Given the description of an element on the screen output the (x, y) to click on. 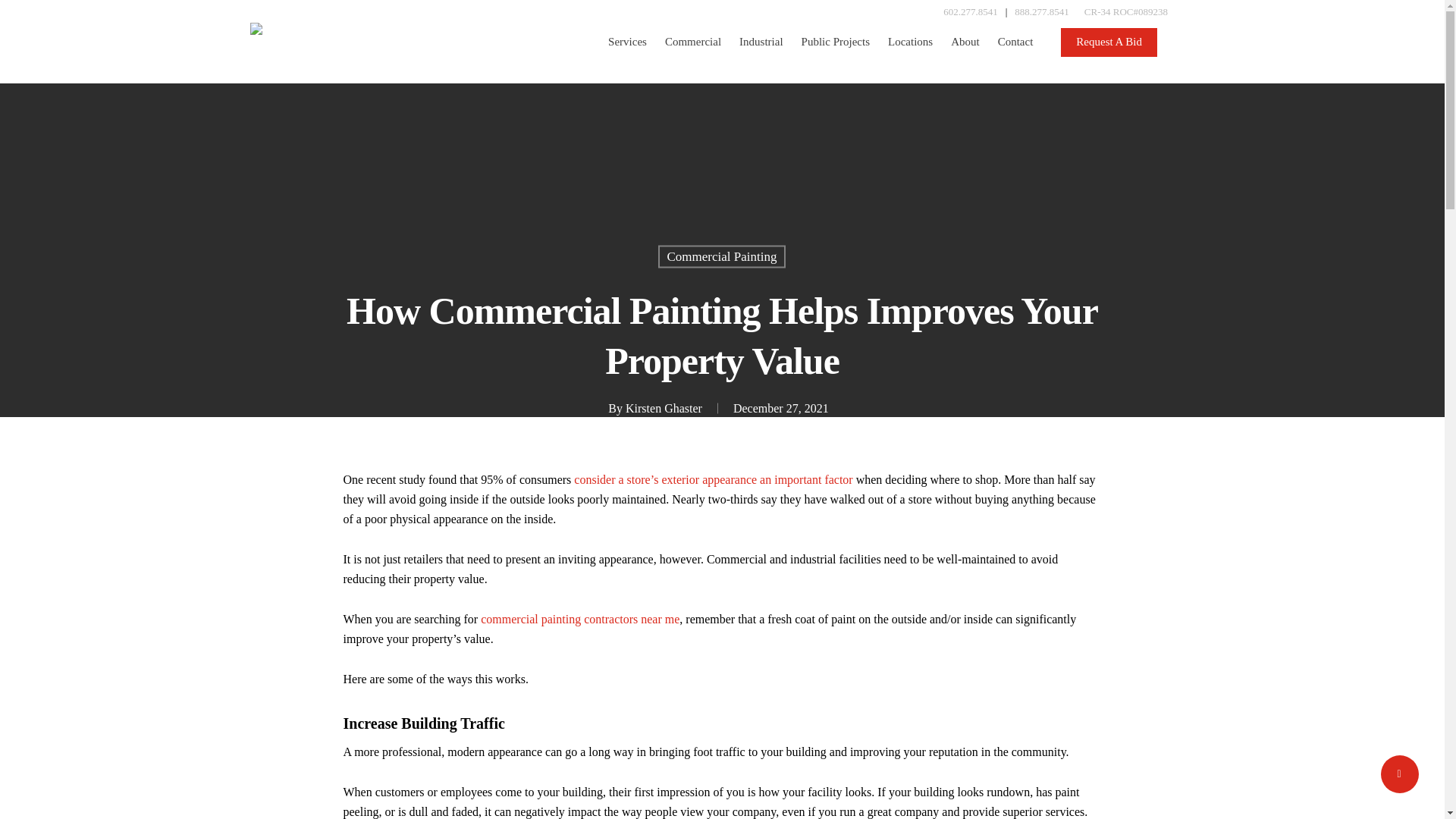
Posts by Kirsten Ghaster (663, 408)
888.277.8541 (1042, 11)
Request A Bid (1109, 41)
Industrial (761, 41)
602.277.8541 (971, 11)
Public Projects (835, 41)
Services (627, 41)
Locations (910, 41)
About (965, 41)
Contact (1015, 41)
